Given the description of an element on the screen output the (x, y) to click on. 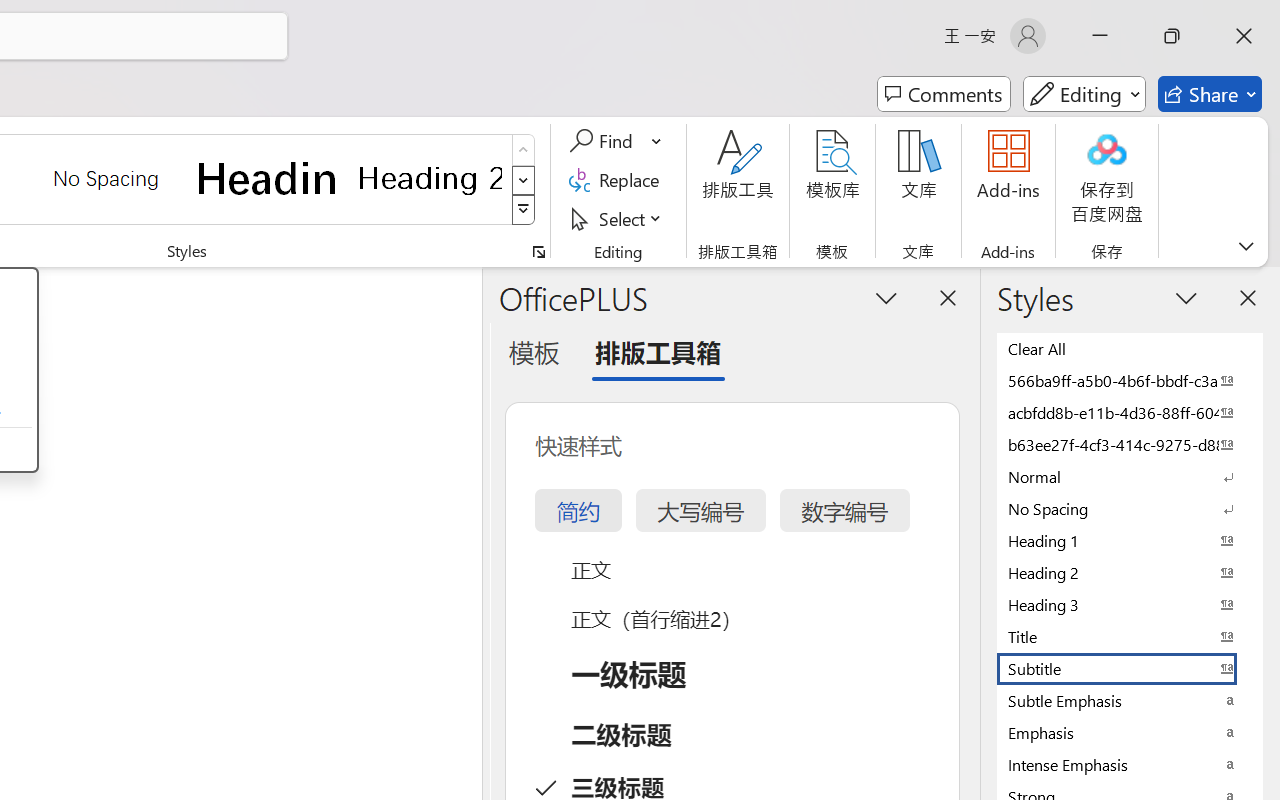
Find in Selection (Alt+L) (1091, 119)
Toggle Panel (Ctrl+J) (1077, 18)
Toggle Primary Side Bar (Ctrl+B) (1050, 18)
Toggle Secondary Side Bar (Ctrl+Alt+B) (1102, 18)
Restore (1210, 18)
Toggle Replace (725, 119)
Title actions (1089, 18)
Editor actions (1226, 58)
More Actions... (1256, 58)
Close (Escape) (1115, 120)
Split Editor Right (Ctrl+\) [Alt] Split Editor Down (1230, 58)
Run or Debug... (1208, 58)
Use Regular Expression (Alt+R) (943, 119)
Previous Match (Shift+Enter) (1041, 119)
